Given the description of an element on the screen output the (x, y) to click on. 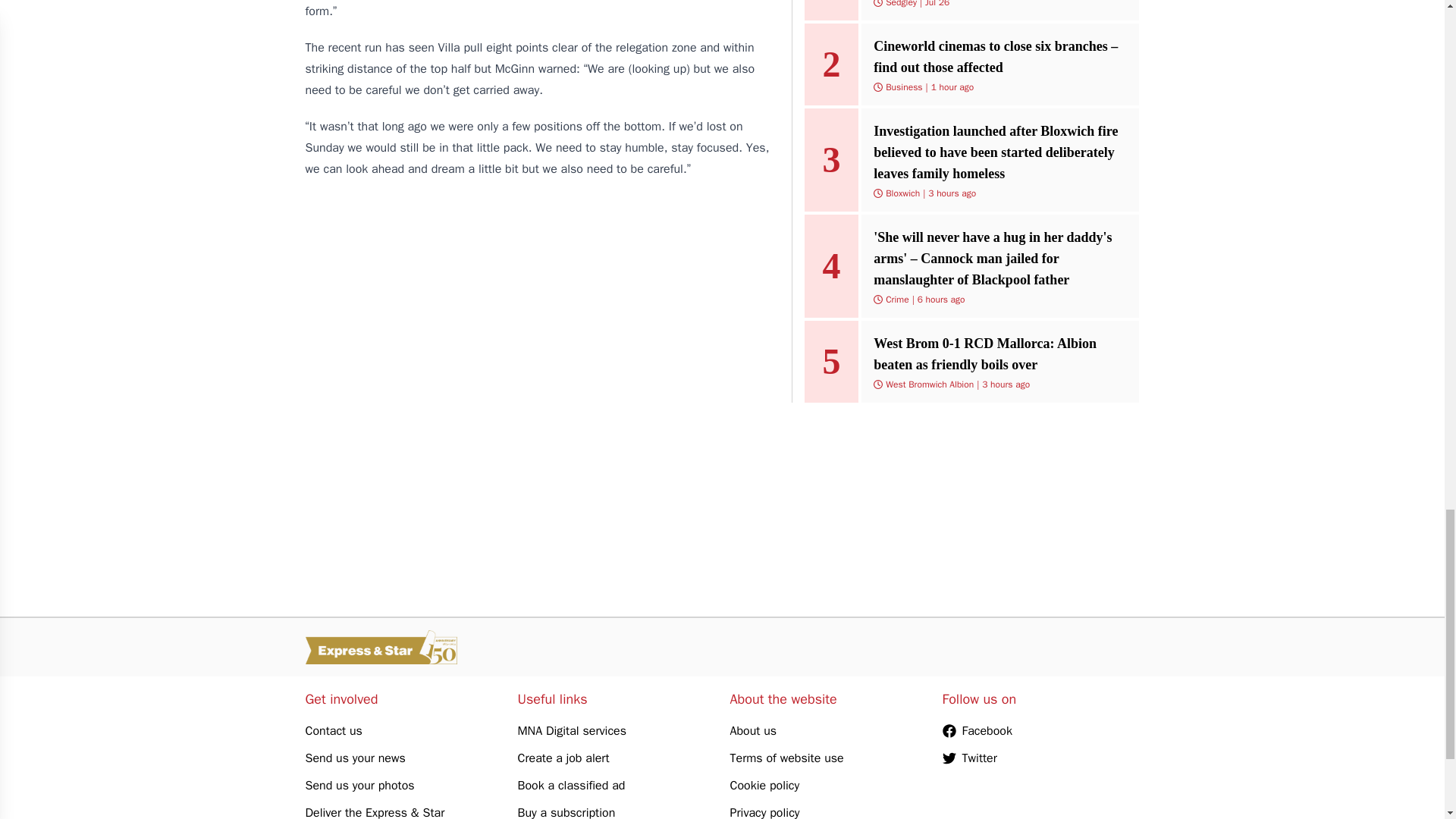
Business (903, 87)
Sedgley (901, 4)
West Bromwich Albion (929, 384)
Crime (896, 299)
Bloxwich (902, 193)
